Given the description of an element on the screen output the (x, y) to click on. 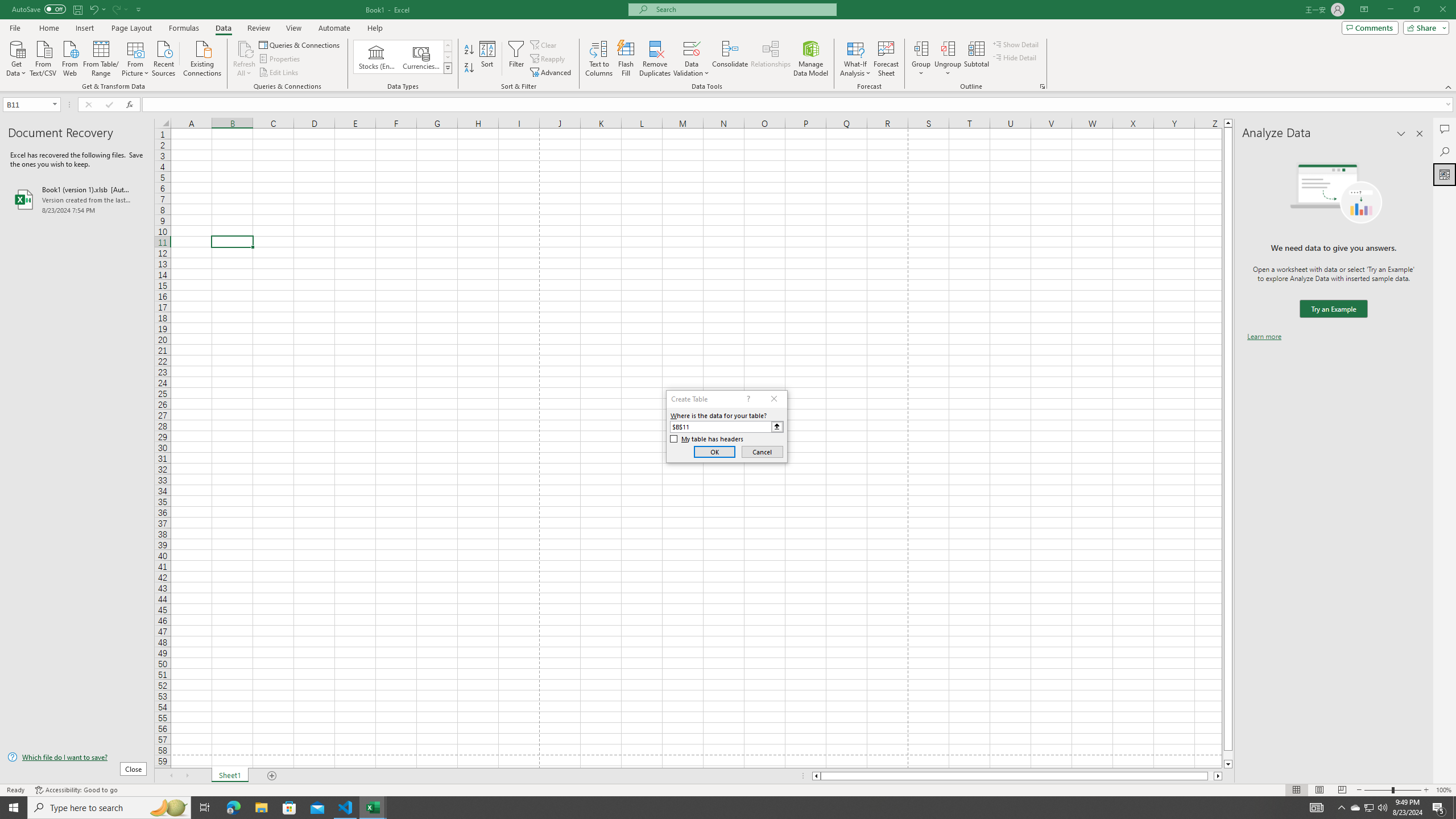
Forecast Sheet (885, 58)
Filter (515, 58)
Stocks (English) (375, 56)
Text to Columns... (598, 58)
What-If Analysis (855, 58)
